Given the description of an element on the screen output the (x, y) to click on. 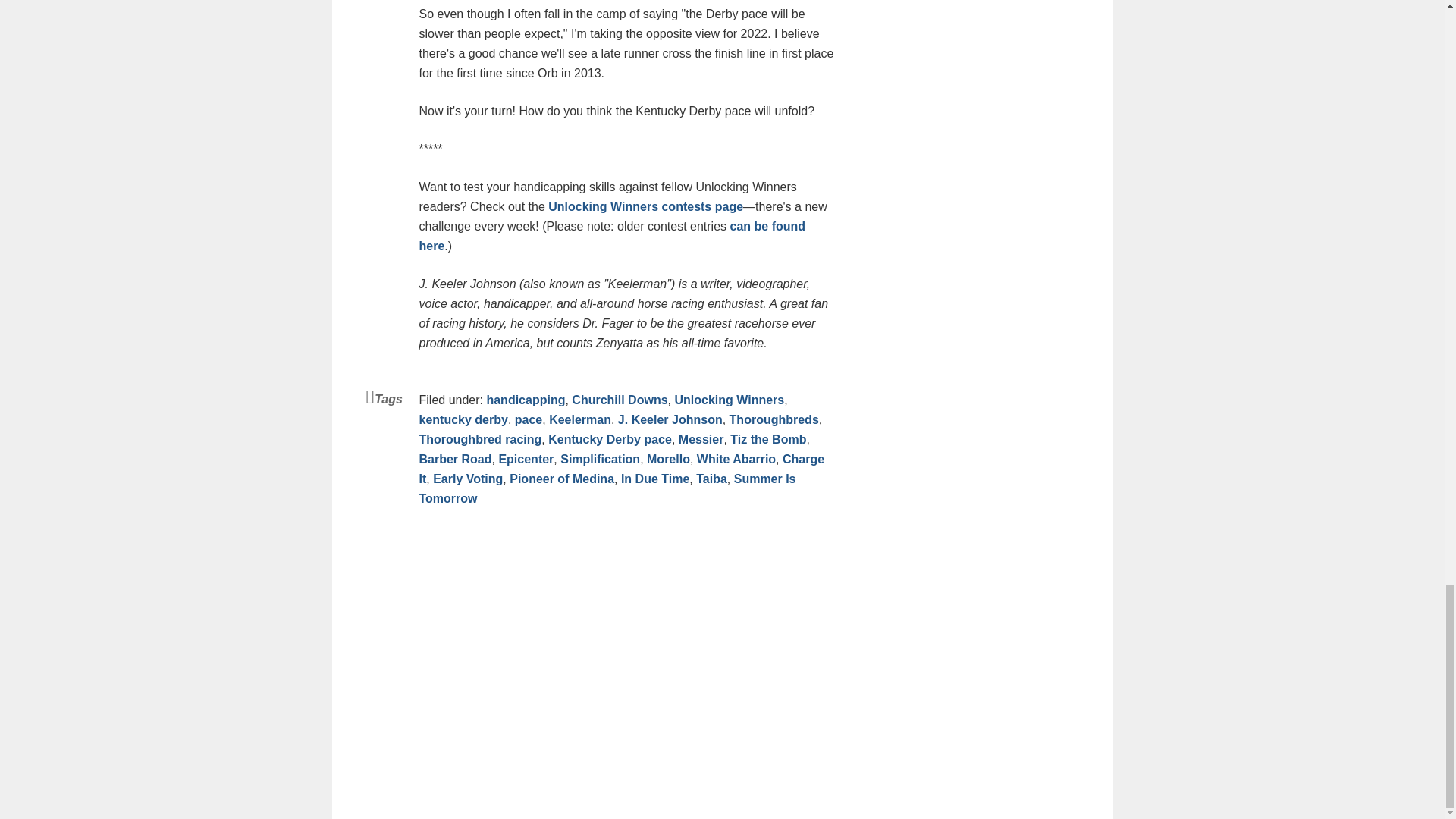
J. Keeler Johnson (669, 419)
handicapping (525, 399)
Thoroughbreds (773, 419)
Keelerman (579, 419)
Churchill Downs (619, 399)
Unlocking Winners contests page (645, 205)
can be found here (612, 236)
Unlocking Winners (729, 399)
pace (528, 419)
kentucky derby (462, 419)
